Given the description of an element on the screen output the (x, y) to click on. 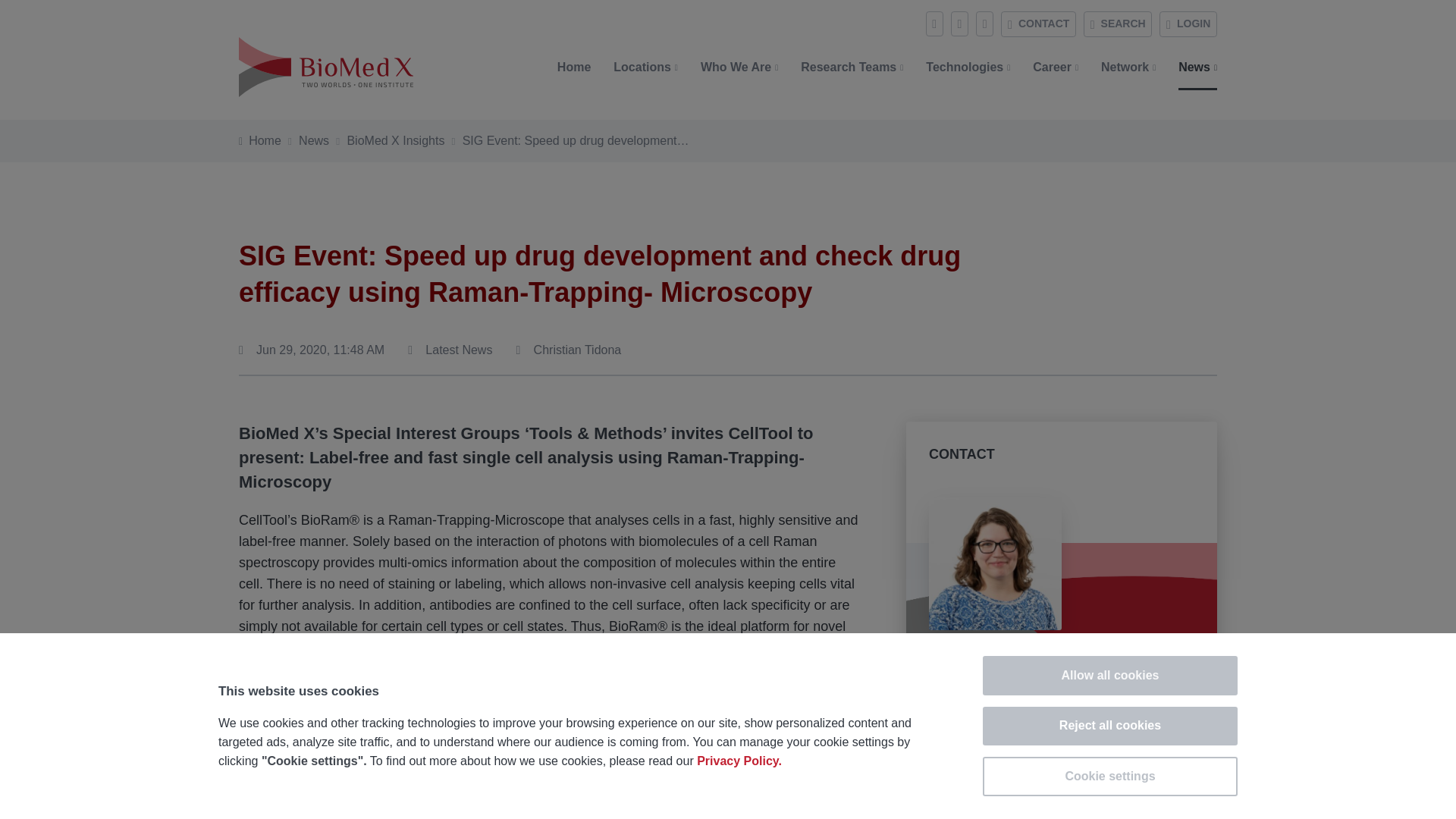
Search site (1117, 23)
Locations (645, 67)
Home (574, 67)
Contact BioMed X (1038, 23)
Technologies (968, 67)
LOGIN (1187, 23)
BioMed X Career Space Login (1187, 23)
Who We Are (738, 67)
Network (1128, 67)
Home (264, 140)
Career (1055, 67)
SEARCH (1117, 23)
Research Teams (851, 67)
CONTACT (1038, 23)
